Given the description of an element on the screen output the (x, y) to click on. 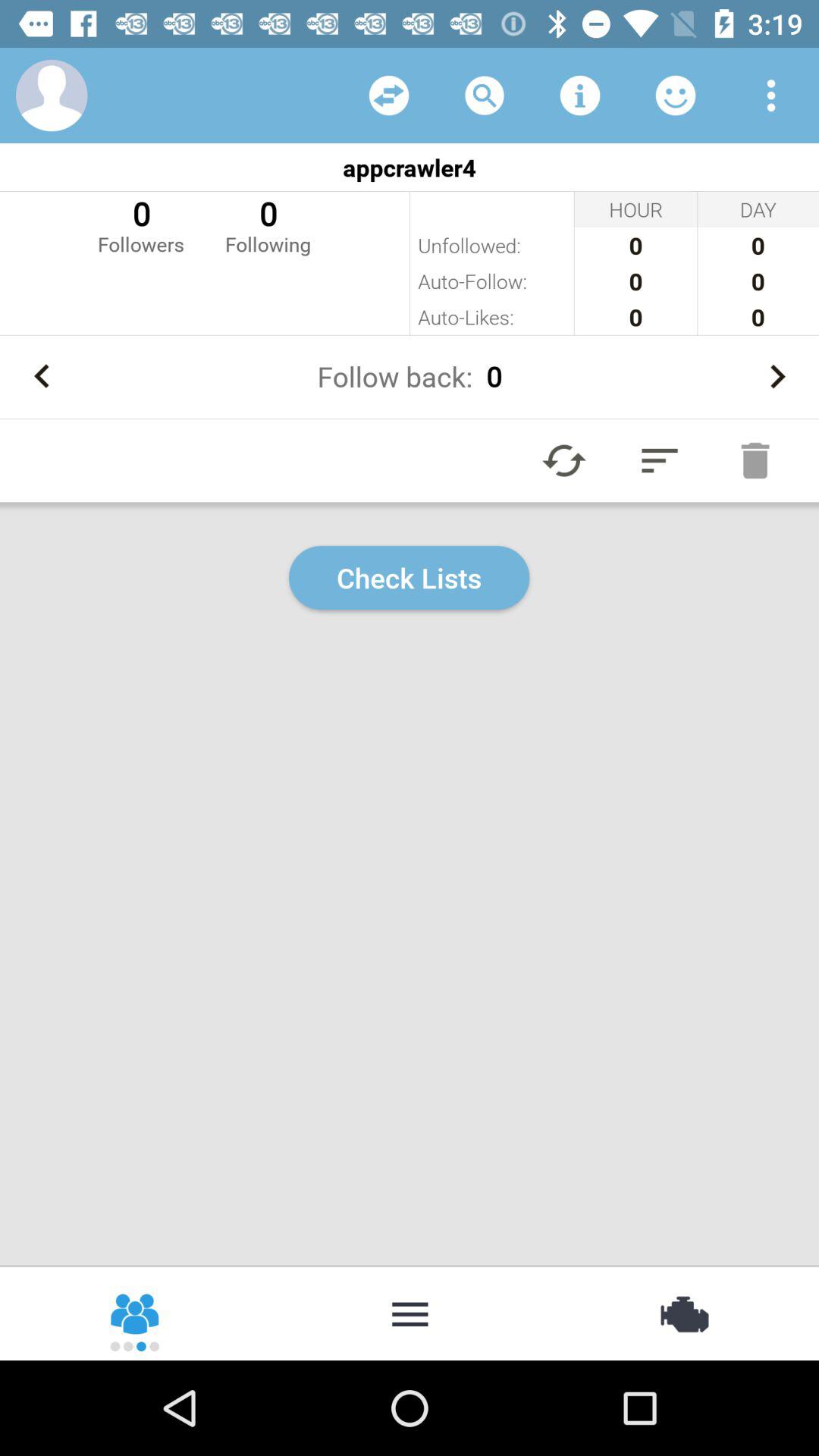
launch the icon below the follow back:  0 icon (563, 460)
